Given the description of an element on the screen output the (x, y) to click on. 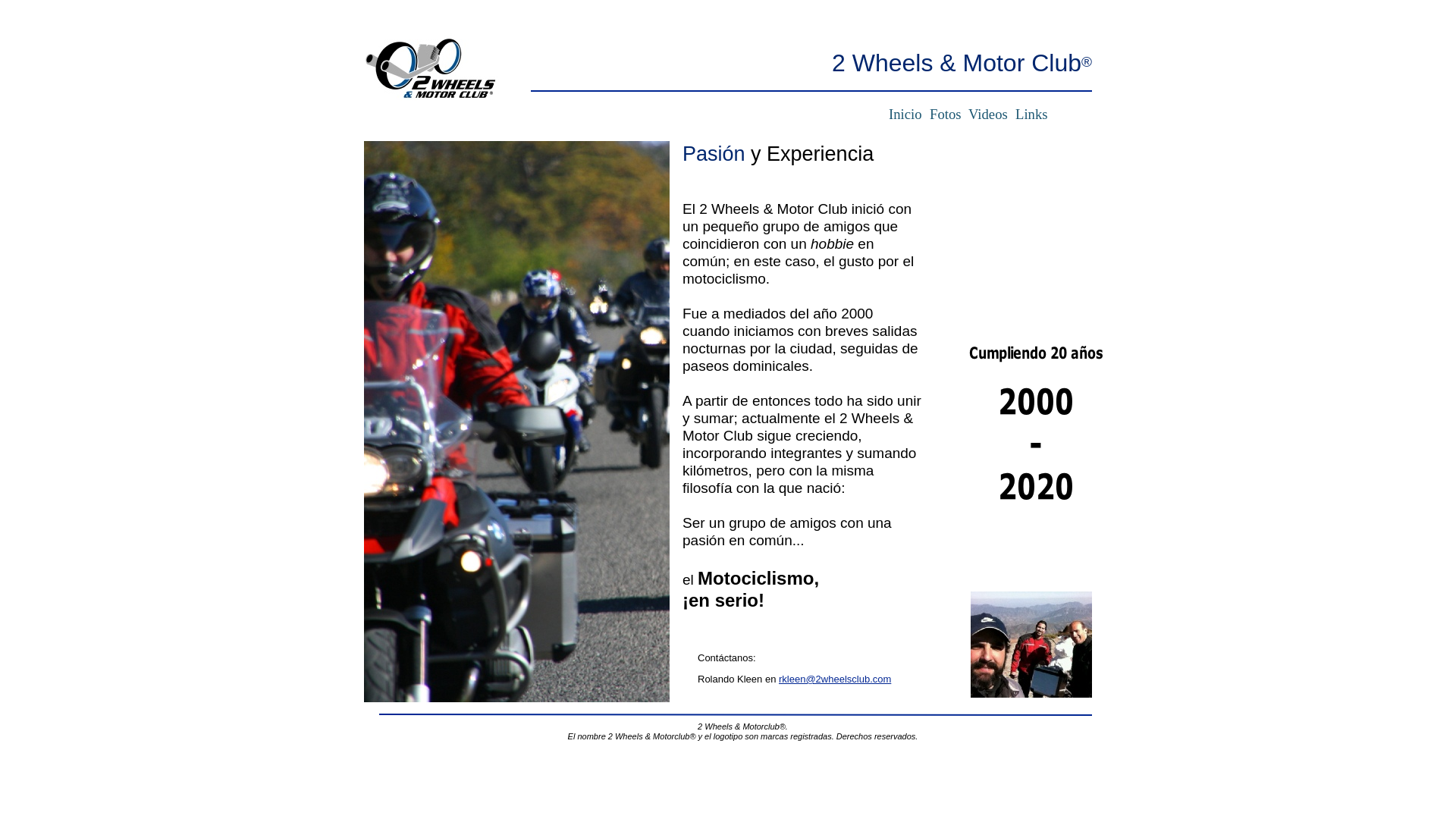
Fotos Element type: text (944, 114)
Links Element type: text (1031, 114)
Inicio Element type: text (905, 114)
rkleen@2wheelsclub.com Element type: text (834, 678)
Videos Element type: text (987, 114)
